Given the description of an element on the screen output the (x, y) to click on. 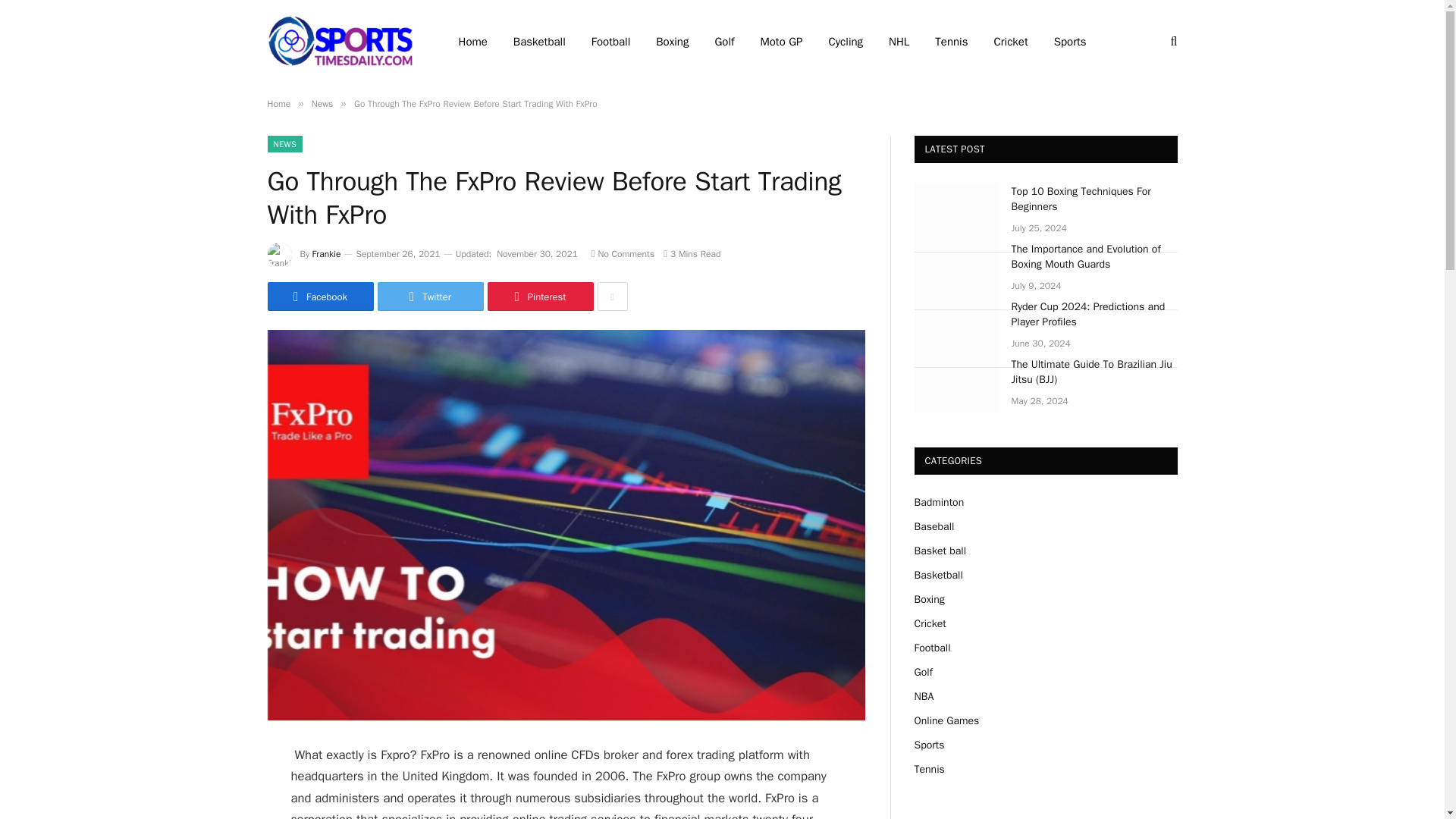
Home (277, 103)
Share on Pinterest (539, 296)
Pinterest (539, 296)
Basketball (539, 41)
Sportstimesdaily (342, 40)
Share on Facebook (319, 296)
Show More Social Sharing (611, 296)
Twitter (430, 296)
No Comments (622, 254)
Posts by Frankie (326, 254)
Facebook (319, 296)
Frankie (326, 254)
NEWS (284, 143)
News (322, 103)
